Given the description of an element on the screen output the (x, y) to click on. 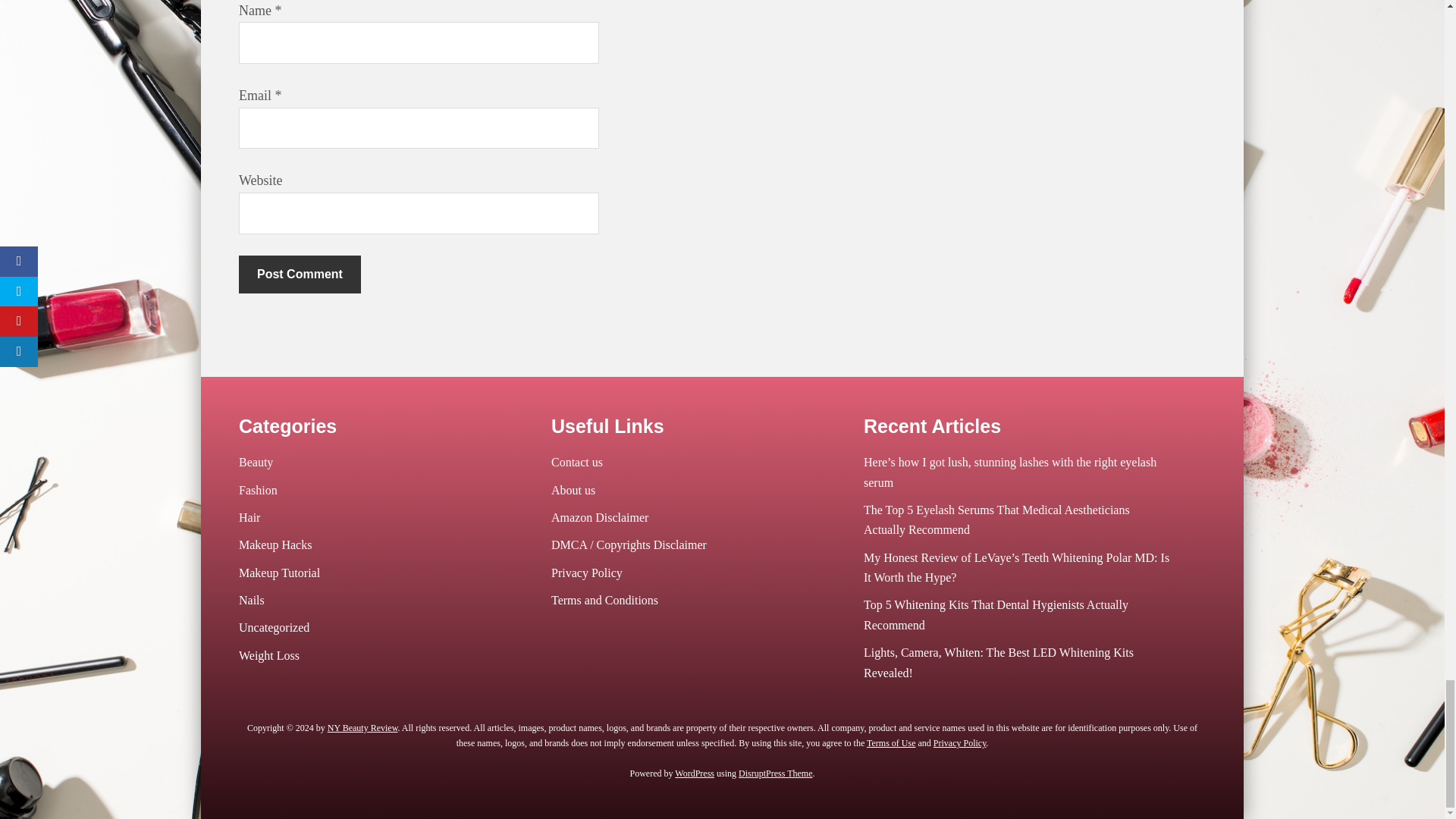
Post Comment (299, 274)
